Given the description of an element on the screen output the (x, y) to click on. 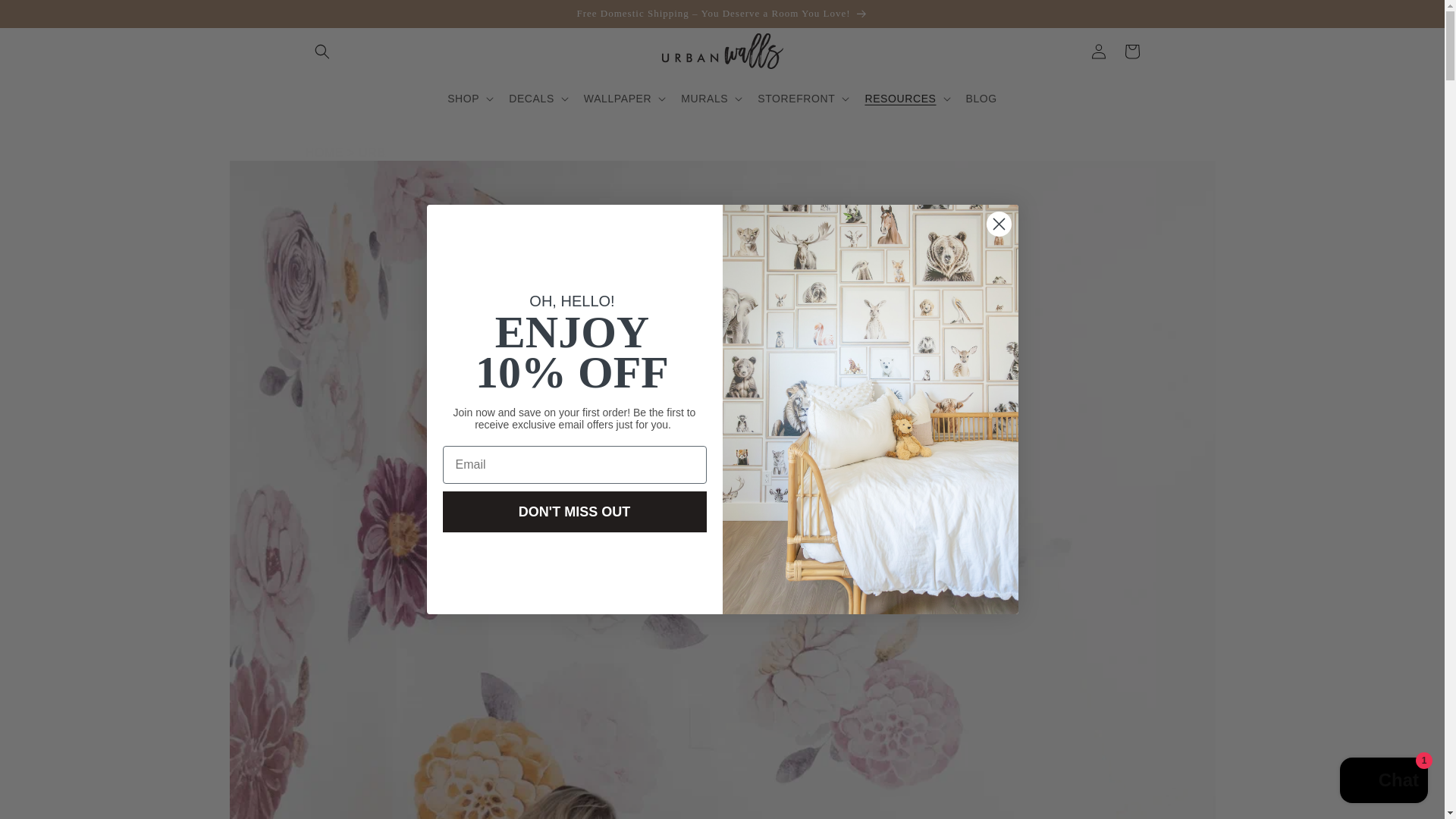
Skip to content (45, 16)
Shopify online store chat (1383, 781)
Close dialog 1 (998, 223)
